Given the description of an element on the screen output the (x, y) to click on. 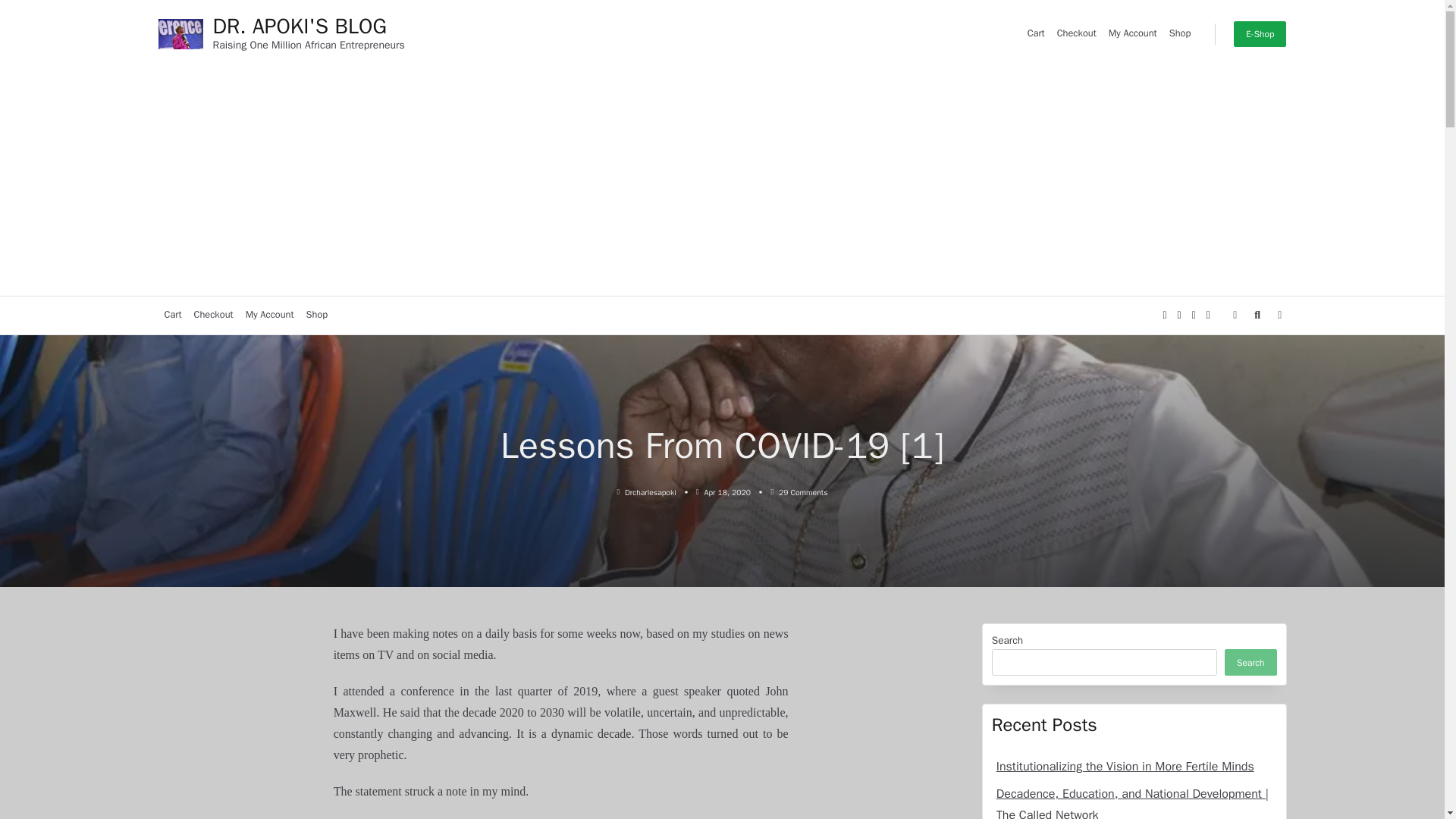
My Account (1134, 654)
Cart (1132, 33)
Shop (172, 315)
Checkout (1179, 33)
Shop (213, 315)
Checkout (316, 315)
E-Shop (1076, 33)
My Account (1259, 33)
DR. APOKI'S BLOG (269, 315)
